Given the description of an element on the screen output the (x, y) to click on. 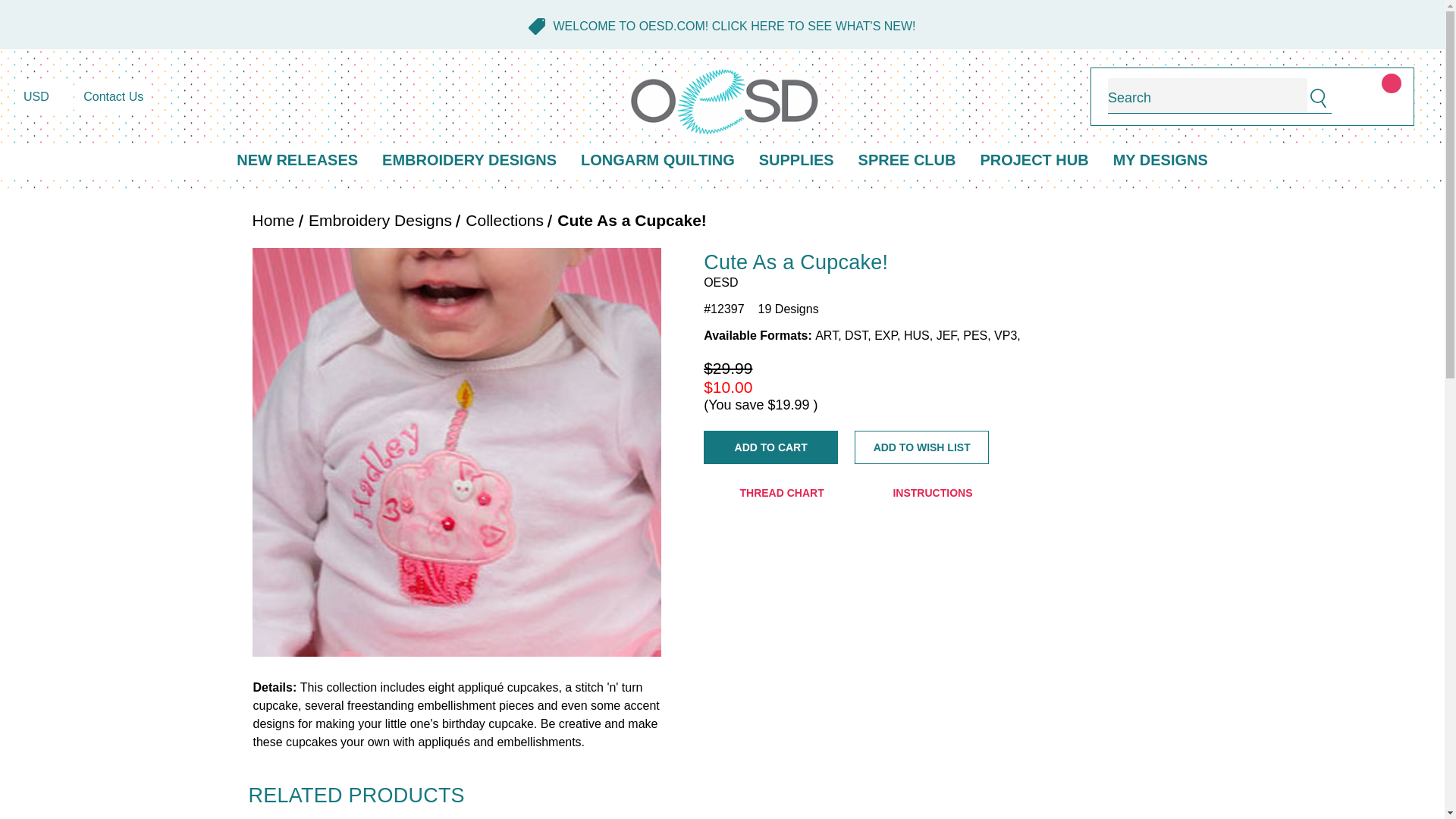
EMBROIDERY DESIGNS (469, 160)
NEW RELEASES (296, 160)
Add to Cart (770, 447)
USD (44, 96)
Contact Us (113, 96)
OESD.com (725, 101)
